Given the description of an element on the screen output the (x, y) to click on. 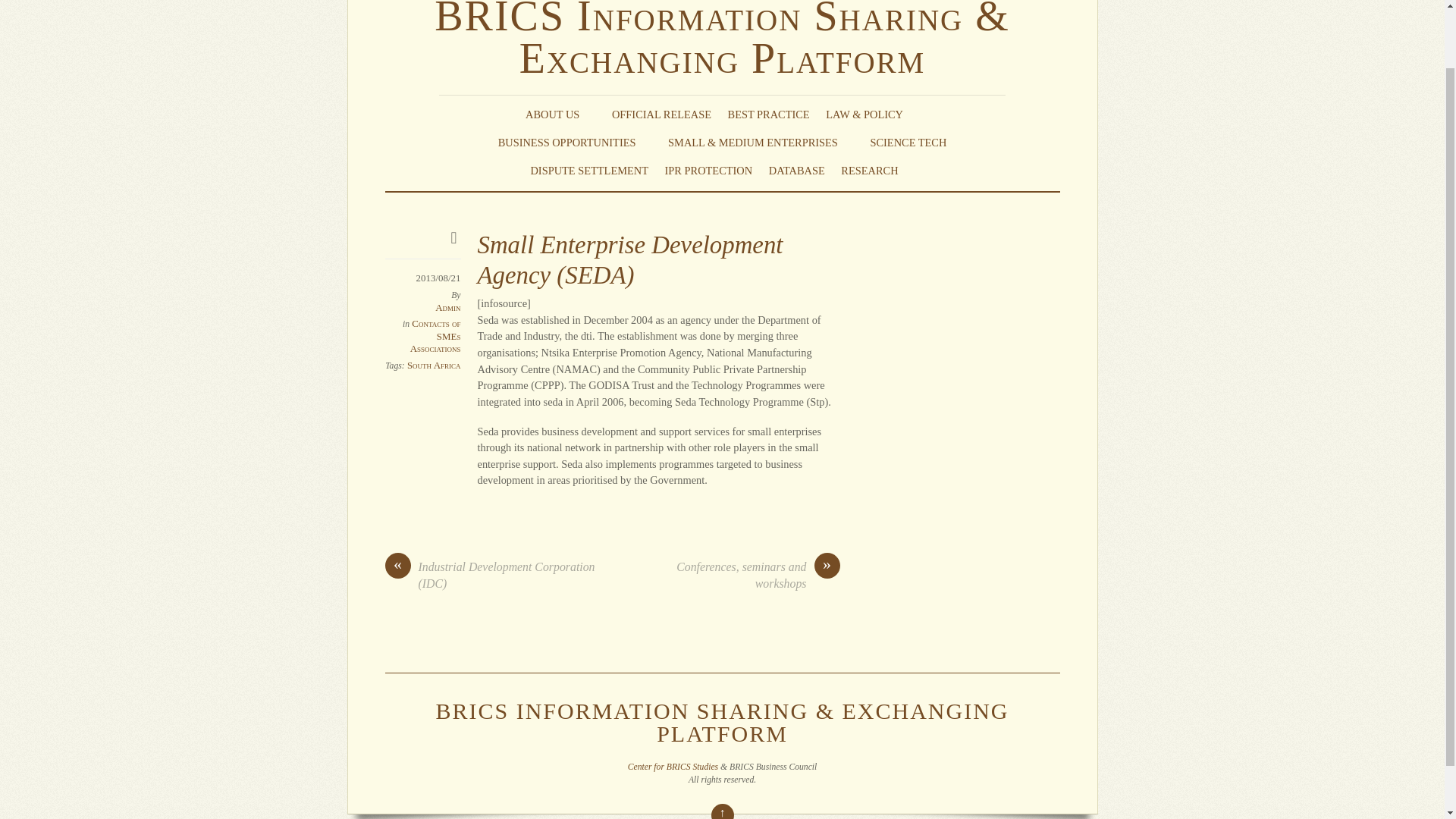
BEST PRACTICE (768, 114)
IPR PROTECTION (709, 169)
Center for BRICS Studies (672, 767)
BUSINESS OPPORTUNITIES (575, 142)
OFFICIAL RELEASE (661, 114)
Admin (447, 307)
DISPUTE SETTLEMENT (588, 169)
ABOUT US (559, 114)
DATABASE (796, 169)
SCIENCE TECH (908, 142)
